Given the description of an element on the screen output the (x, y) to click on. 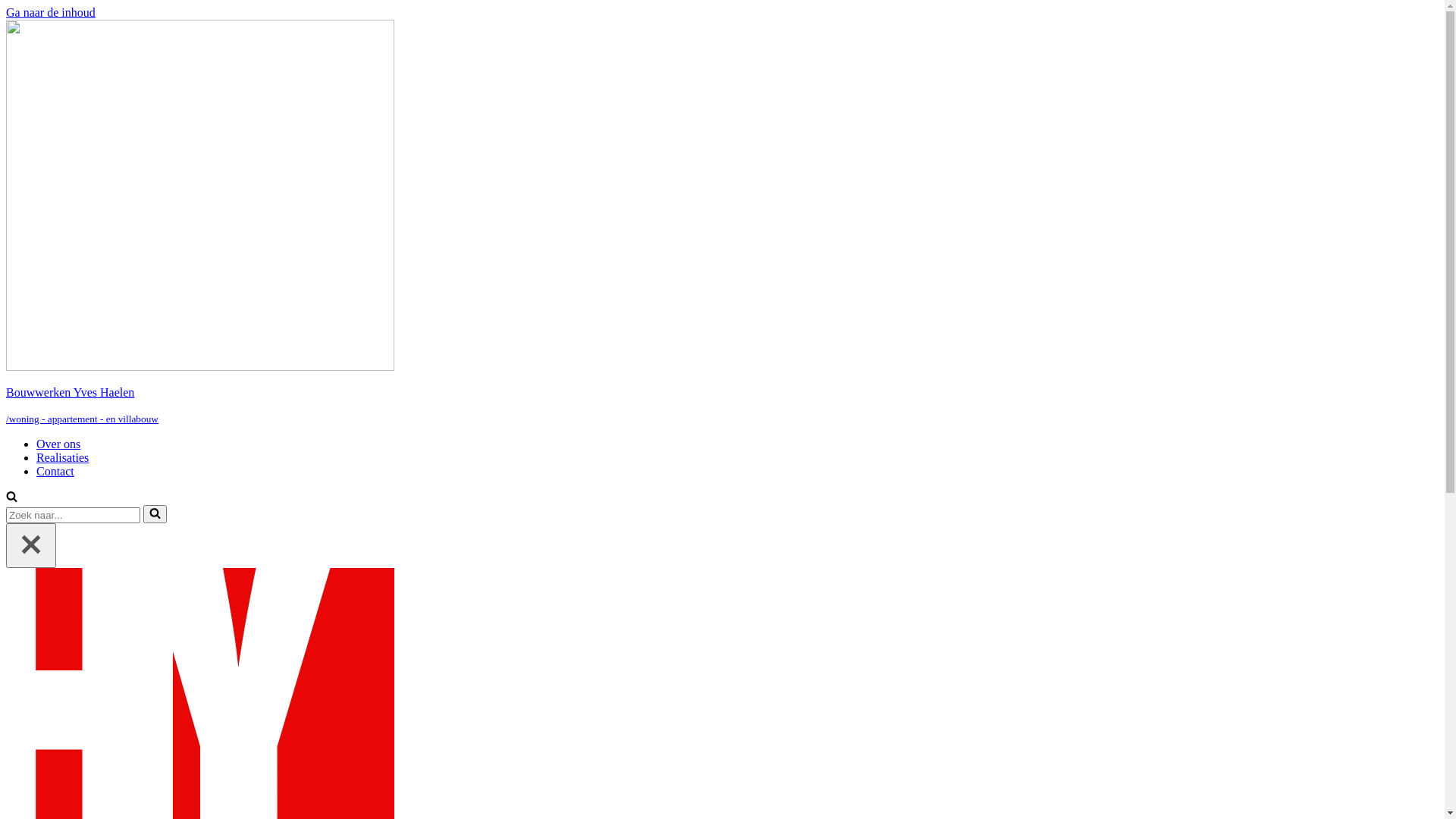
Ga naar de inhoud Element type: text (50, 12)
Realisaties Element type: text (62, 457)
Contact Element type: text (55, 470)
Over ons Element type: text (58, 443)
Bouwwerken Yves Haelen
/woning - appartement - en villabouw Element type: text (722, 222)
